Given the description of an element on the screen output the (x, y) to click on. 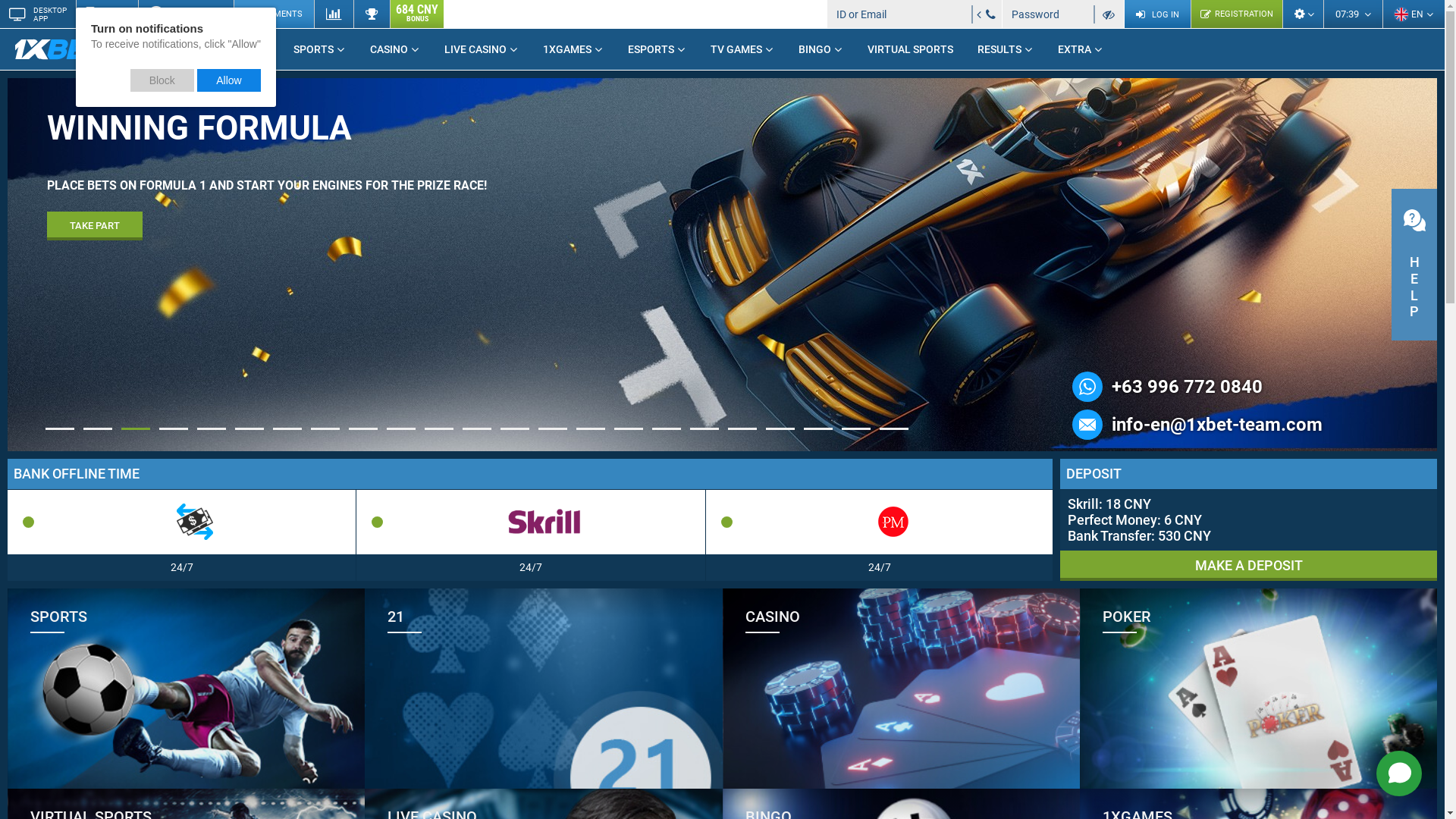
CASINO Element type: text (900, 688)
POKER Element type: text (1258, 688)
PAYMENTS Element type: text (273, 14)
21 Element type: text (542, 688)
Show password Element type: hover (1108, 13)
RESULTS Element type: text (1005, 48)
Settings Element type: hover (1302, 14)
+63 996 772 0840 Element type: text (1186, 386)
MAKE A DEPOSIT Element type: text (1248, 565)
MOBILE
APP Element type: text (106, 14)
LIVE CASINO Element type: text (481, 48)
Results Element type: hover (371, 14)
REGISTRATION Element type: text (1236, 14)
ESPORTS Element type: text (656, 48)
BETS
VIA TELEGRAM Element type: text (185, 14)
TV GAMES Element type: text (742, 48)
PROMO Element type: text (244, 48)
EXTRA Element type: text (1080, 48)
Your phone number Element type: hover (990, 13)
Black Friday
GET YOUR 50% CASHBACK RIGHT NOW!
TAKE PART Element type: text (722, 159)
684 CNY
BONUS Element type: text (416, 14)
Allow Element type: text (228, 80)
VIRTUAL SPORTS Element type: text (910, 48)
SPORTS Element type: text (185, 688)
1XGAMES Element type: text (572, 48)
Statistics Element type: hover (333, 14)
BINGO Element type: text (820, 48)
SPORTS Element type: text (319, 48)
CASINO Element type: text (394, 48)
Block Element type: text (162, 80)
info-en@1xbet-team.com Element type: text (1216, 424)
DESKTOP
APP Element type: text (37, 14)
